Given the description of an element on the screen output the (x, y) to click on. 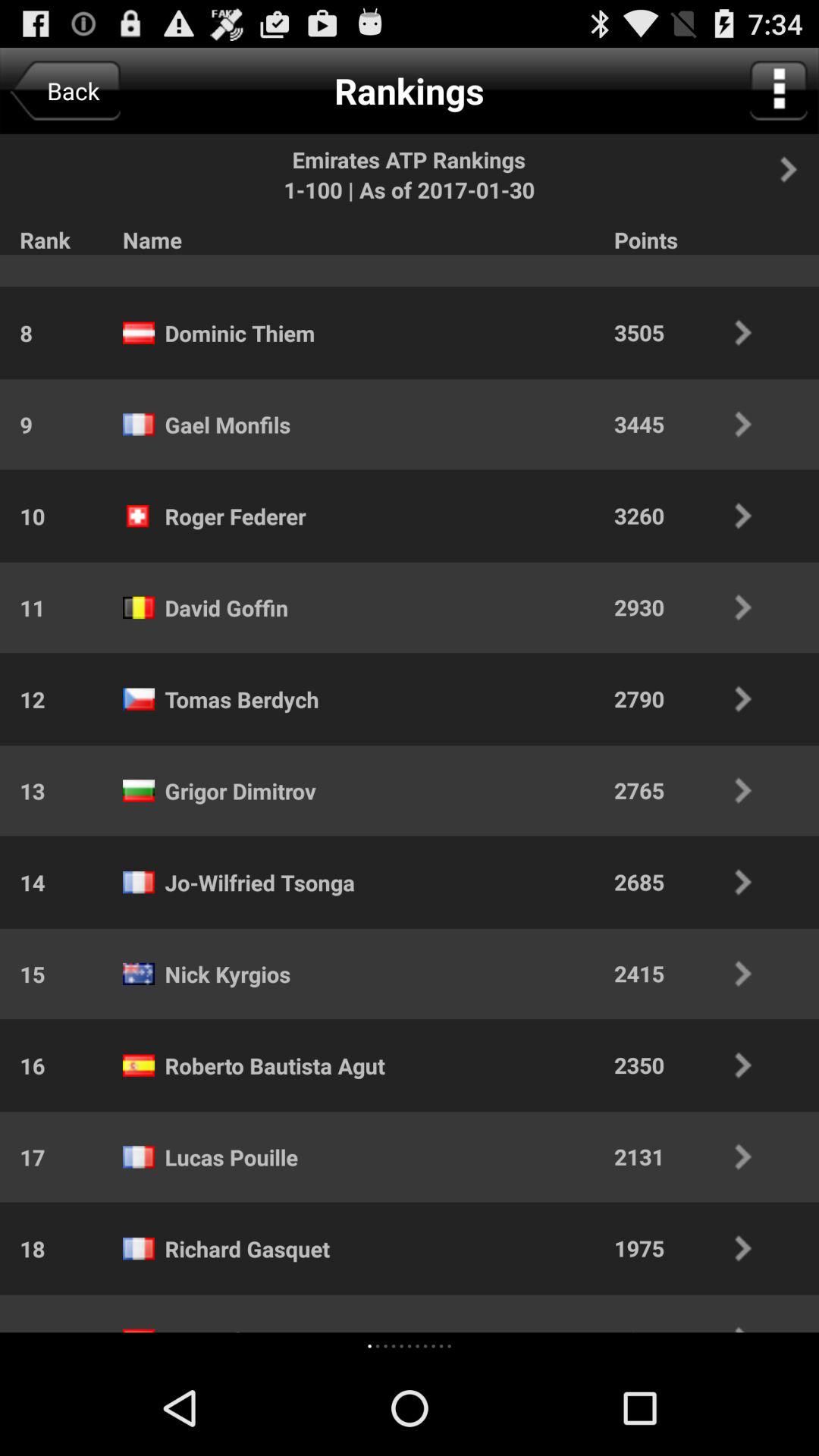
turn off the item next to grigor dimitrov item (693, 790)
